Given the description of an element on the screen output the (x, y) to click on. 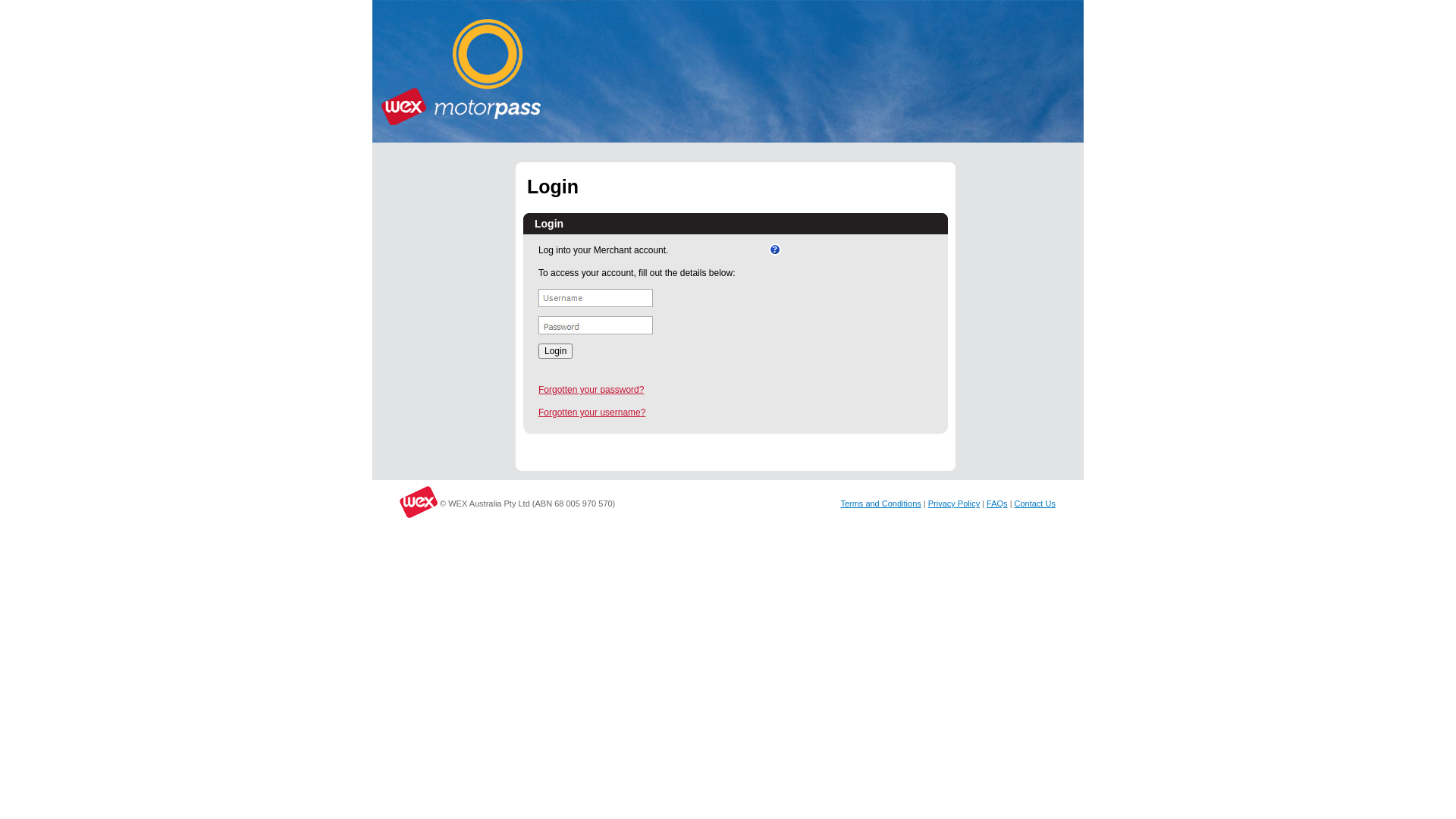
Forgotten your username? Element type: text (591, 412)
Terms and Conditions Element type: text (880, 503)
Privacy Policy Element type: text (953, 503)
FAQs Element type: text (996, 503)
Forgotten your password? Element type: text (590, 389)
Login Element type: text (555, 350)
Contact Us Element type: text (1034, 503)
WEX Element type: text (397, 501)
